Given the description of an element on the screen output the (x, y) to click on. 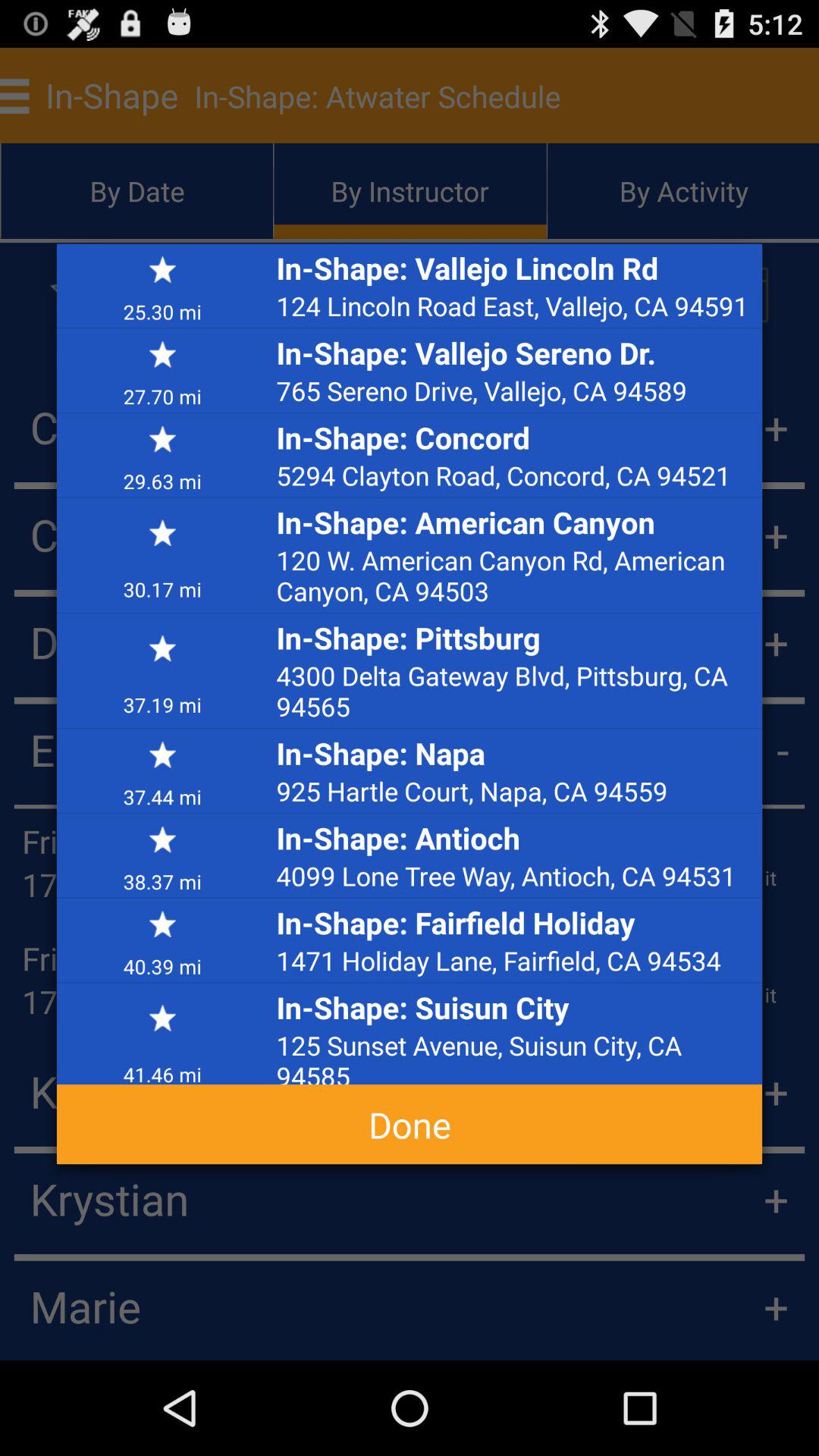
choose the 4099 lone tree app (515, 875)
